Given the description of an element on the screen output the (x, y) to click on. 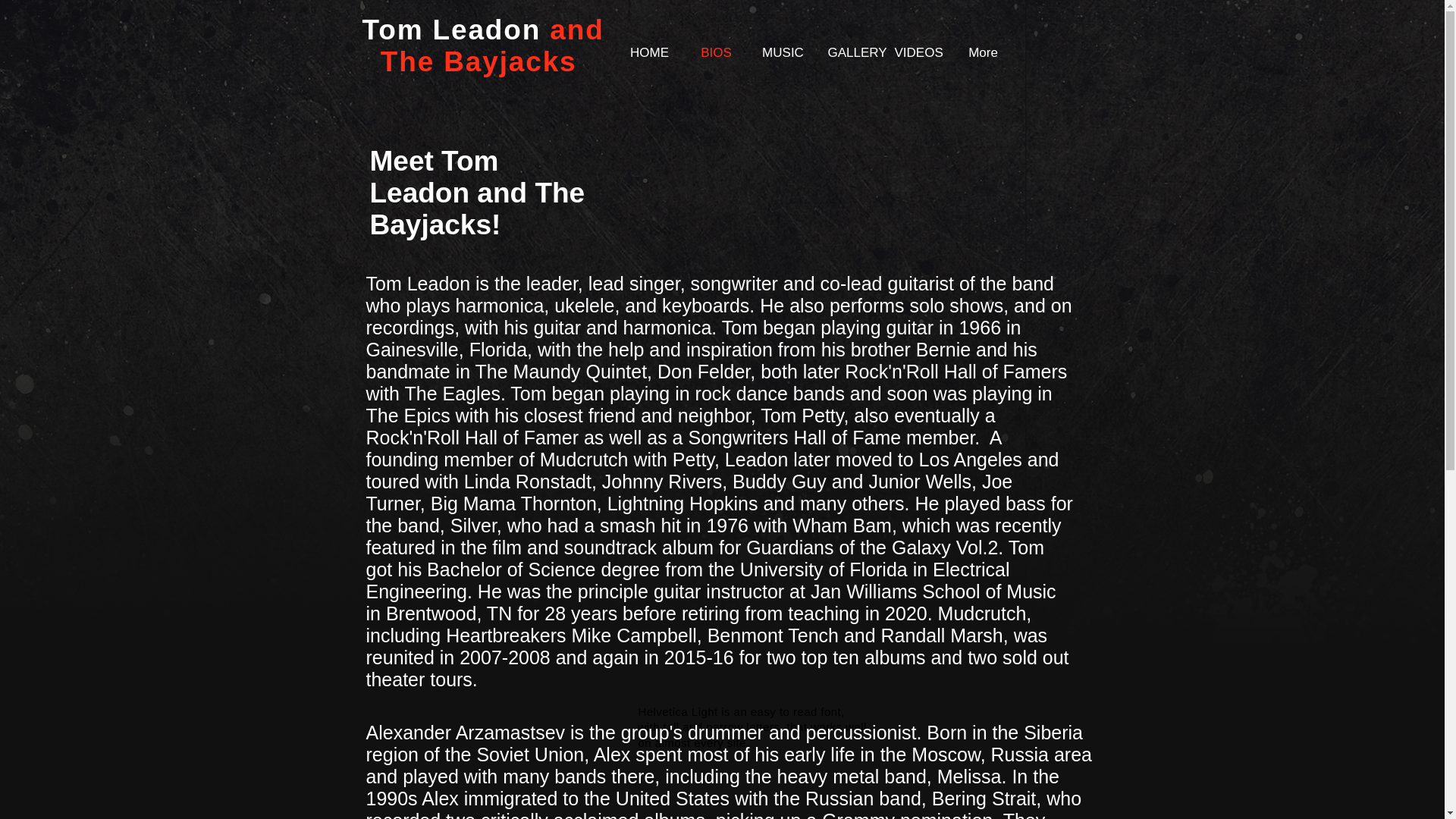
GALLERY (848, 52)
HOME (648, 52)
Tom Leadon and    The Bayjacks (487, 45)
BIOS (715, 52)
MUSIC (782, 52)
VIDEOS (915, 52)
